Given the description of an element on the screen output the (x, y) to click on. 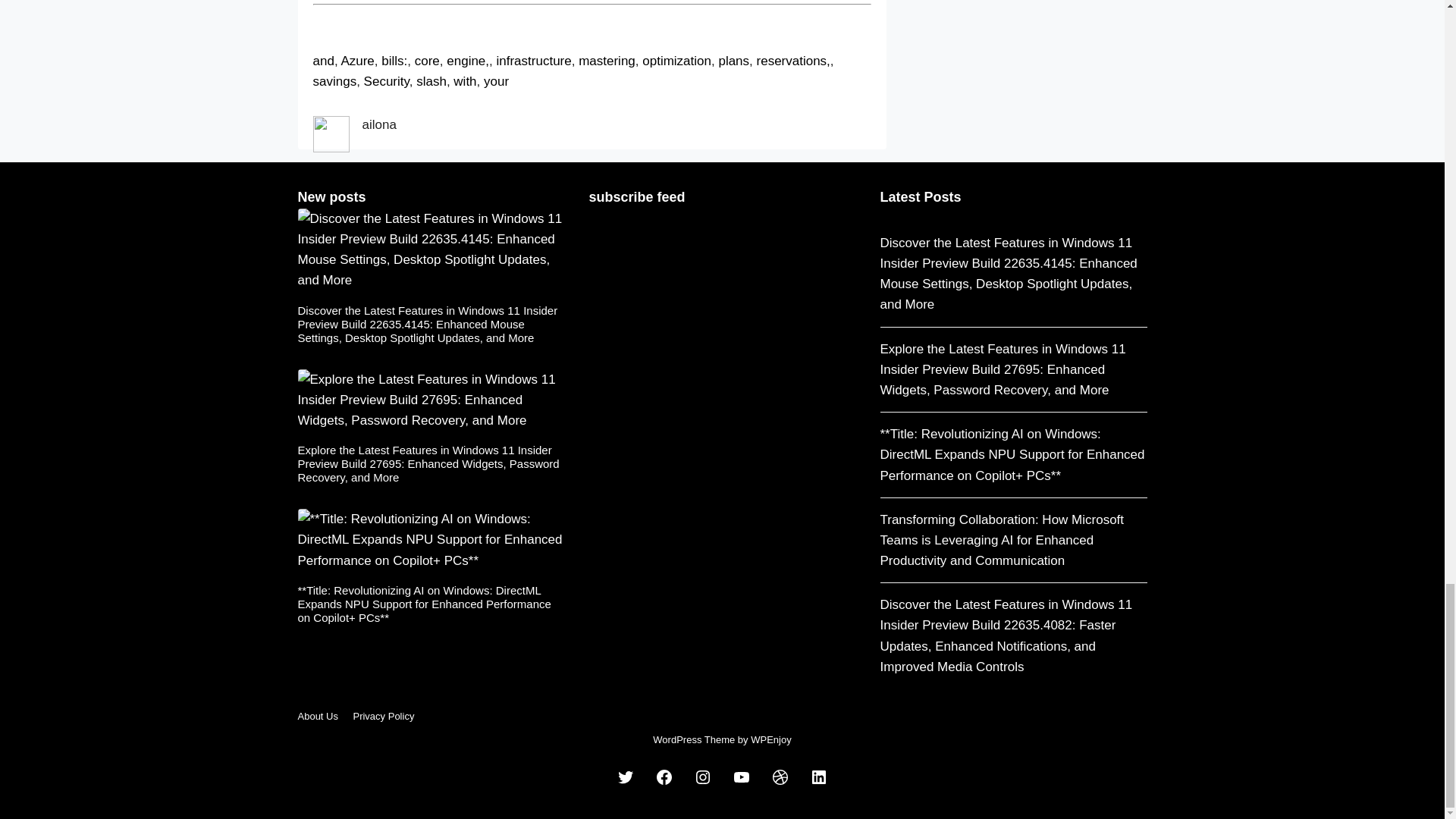
mastering (606, 60)
Azure (357, 60)
slash (431, 81)
and (323, 60)
reservations, (793, 60)
engine, (467, 60)
your (495, 81)
savings (334, 81)
bills: (394, 60)
with (464, 81)
